Given the description of an element on the screen output the (x, y) to click on. 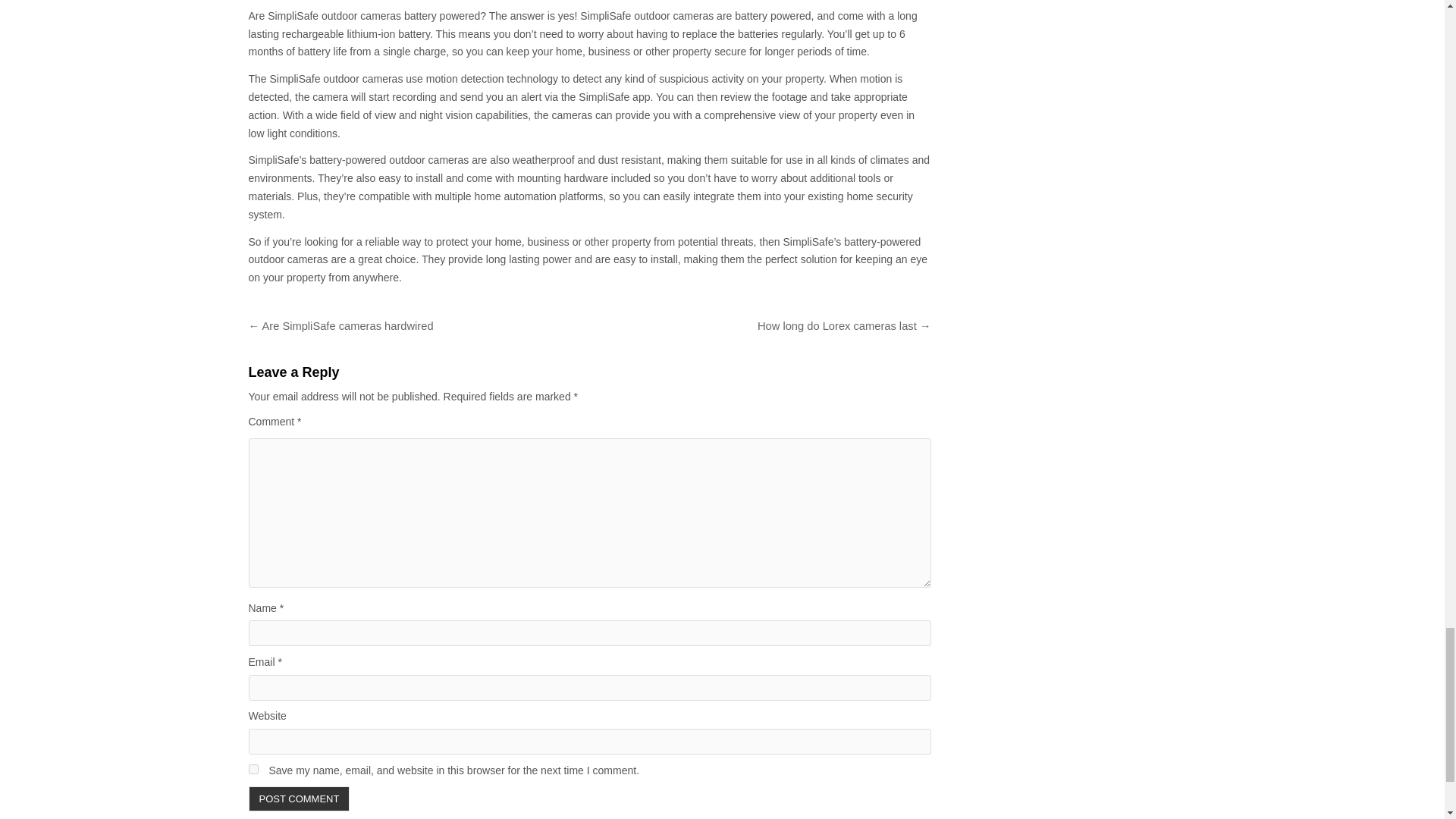
Post Comment (299, 798)
yes (253, 768)
Post Comment (299, 798)
